Given the description of an element on the screen output the (x, y) to click on. 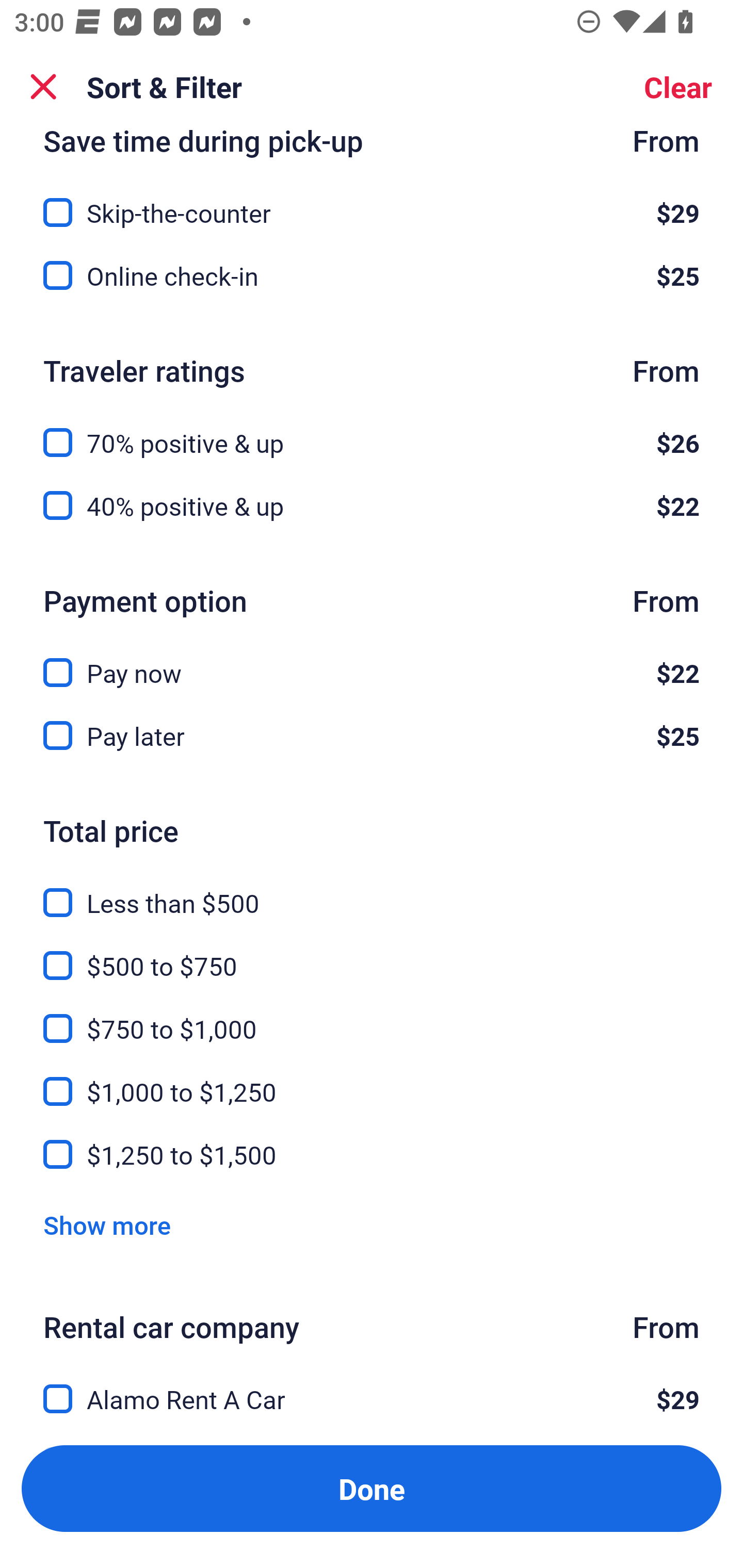
Close Sort and Filter (43, 86)
Clear (677, 86)
Skip-the-counter, $29 Skip-the-counter $29 (371, 200)
Online check-in, $25 Online check-in $25 (371, 275)
70% positive & up, $26 70% positive & up $26 (371, 430)
40% positive & up, $22 40% positive & up $22 (371, 505)
Pay now, $22 Pay now $22 (371, 661)
Pay later, $25 Pay later $25 (371, 736)
Less than $500, Less than $500 (371, 890)
$500 to $750, $500 to $750 (371, 953)
$750 to $1,000, $750 to $1,000 (371, 1017)
$1,000 to $1,250, $1,000 to $1,250 (371, 1079)
$1,250 to $1,500, $1,250 to $1,500 (371, 1154)
Show more Show more Link (106, 1225)
Alamo Rent A Car, $29 Alamo Rent A Car $29 (371, 1387)
Apply and close Sort and Filter Done (371, 1488)
